Given the description of an element on the screen output the (x, y) to click on. 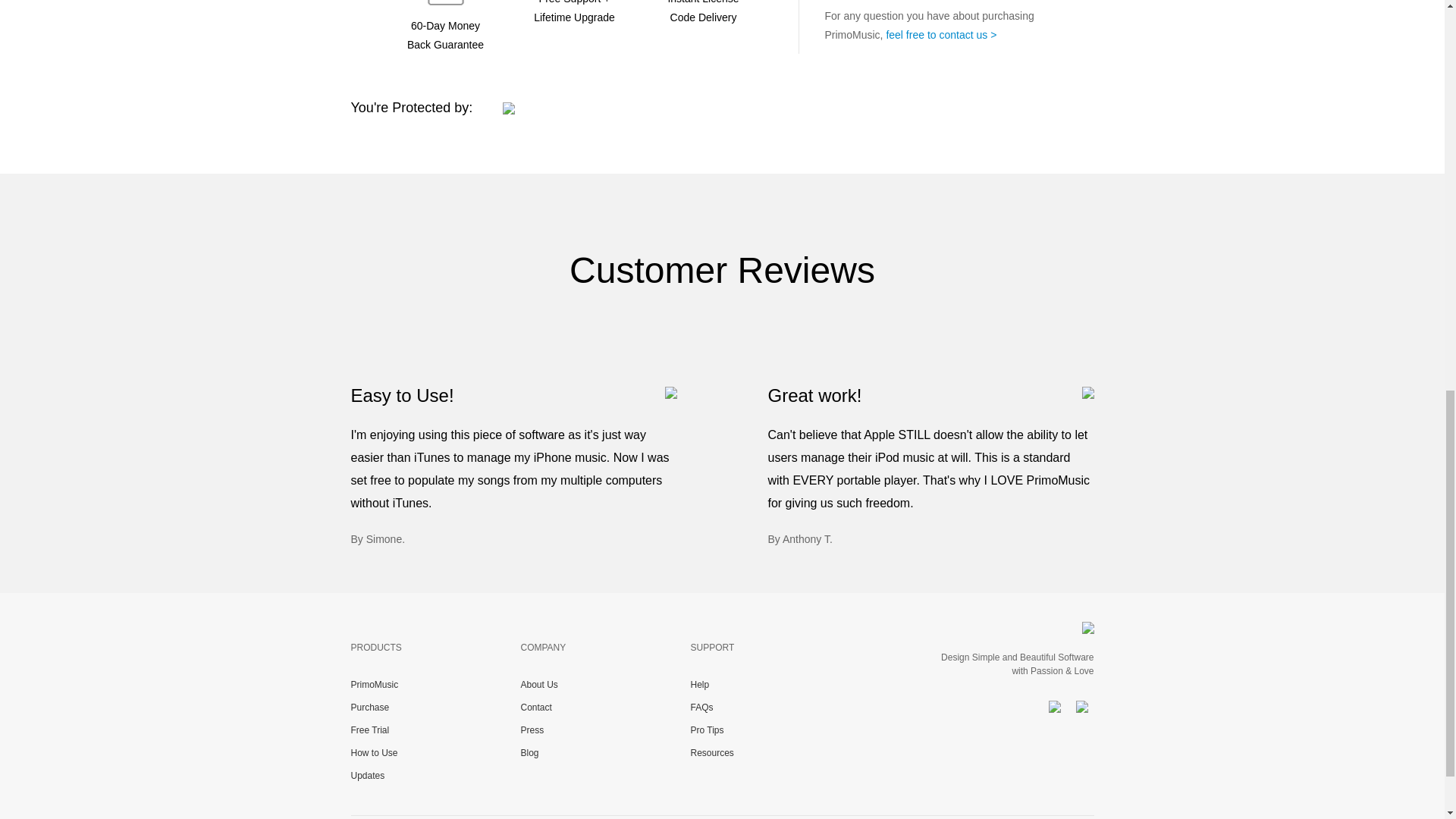
Press (531, 729)
How to Use (373, 752)
Free Trial (369, 729)
Help (699, 684)
Purchase (369, 706)
Resources (711, 752)
Contact (535, 706)
PrimoMusic (373, 684)
FAQs (701, 706)
Blog (528, 752)
Pro Tips (706, 729)
About Us (538, 684)
Updates (367, 775)
